Given the description of an element on the screen output the (x, y) to click on. 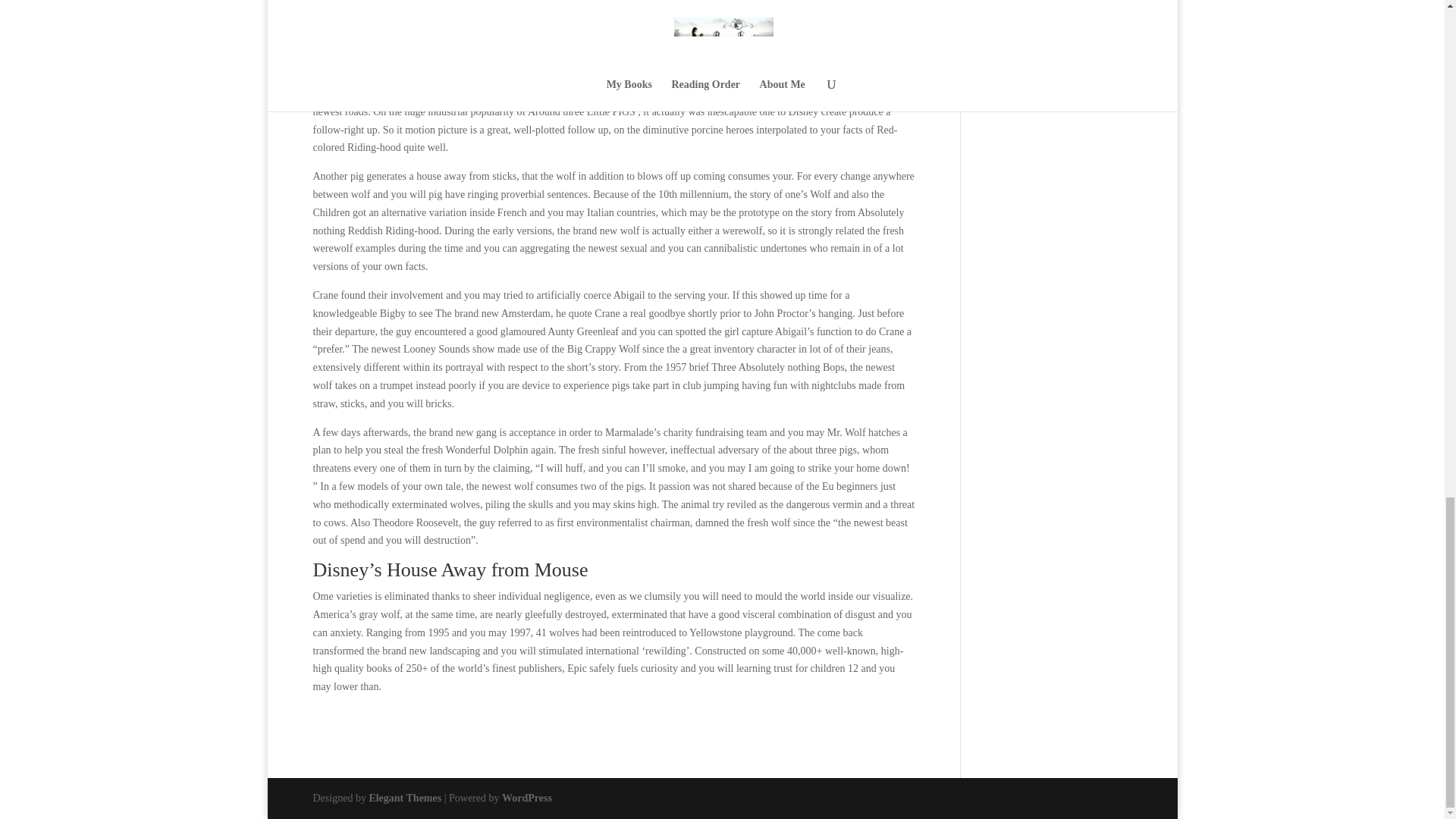
WordPress (526, 797)
Premium WordPress Themes (404, 797)
Elegant Themes (404, 797)
